Given the description of an element on the screen output the (x, y) to click on. 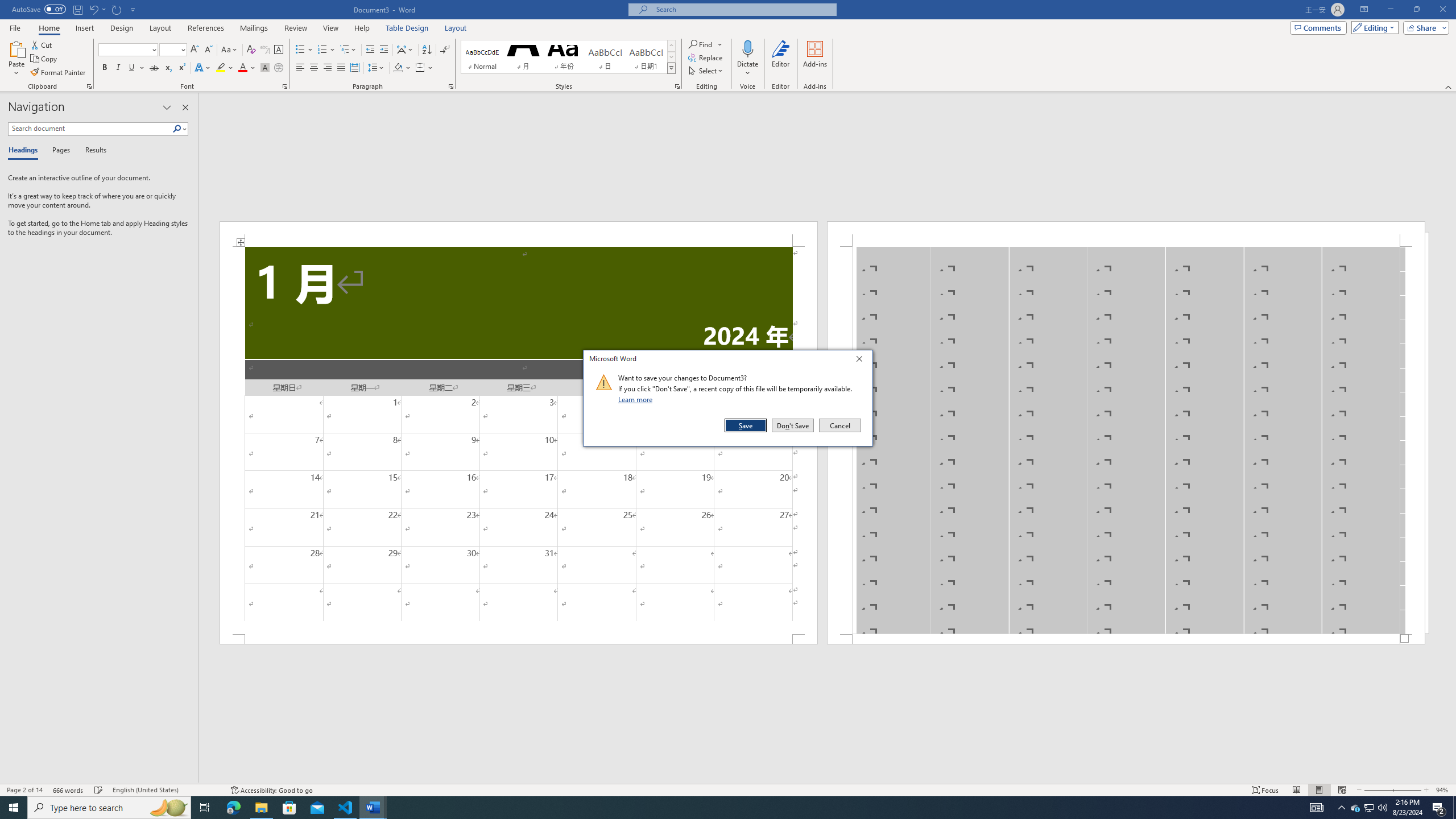
Search (177, 128)
Collapse the Ribbon (1448, 86)
Results (91, 150)
Distributed (354, 67)
Don't Save (792, 425)
Accessibility Checker Accessibility: Good to go (271, 790)
Close pane (185, 107)
Undo Shrink Font (92, 9)
More Options (747, 68)
Dictate (747, 58)
Open (182, 49)
AutomationID: QuickStylesGallery (568, 56)
